Given the description of an element on the screen output the (x, y) to click on. 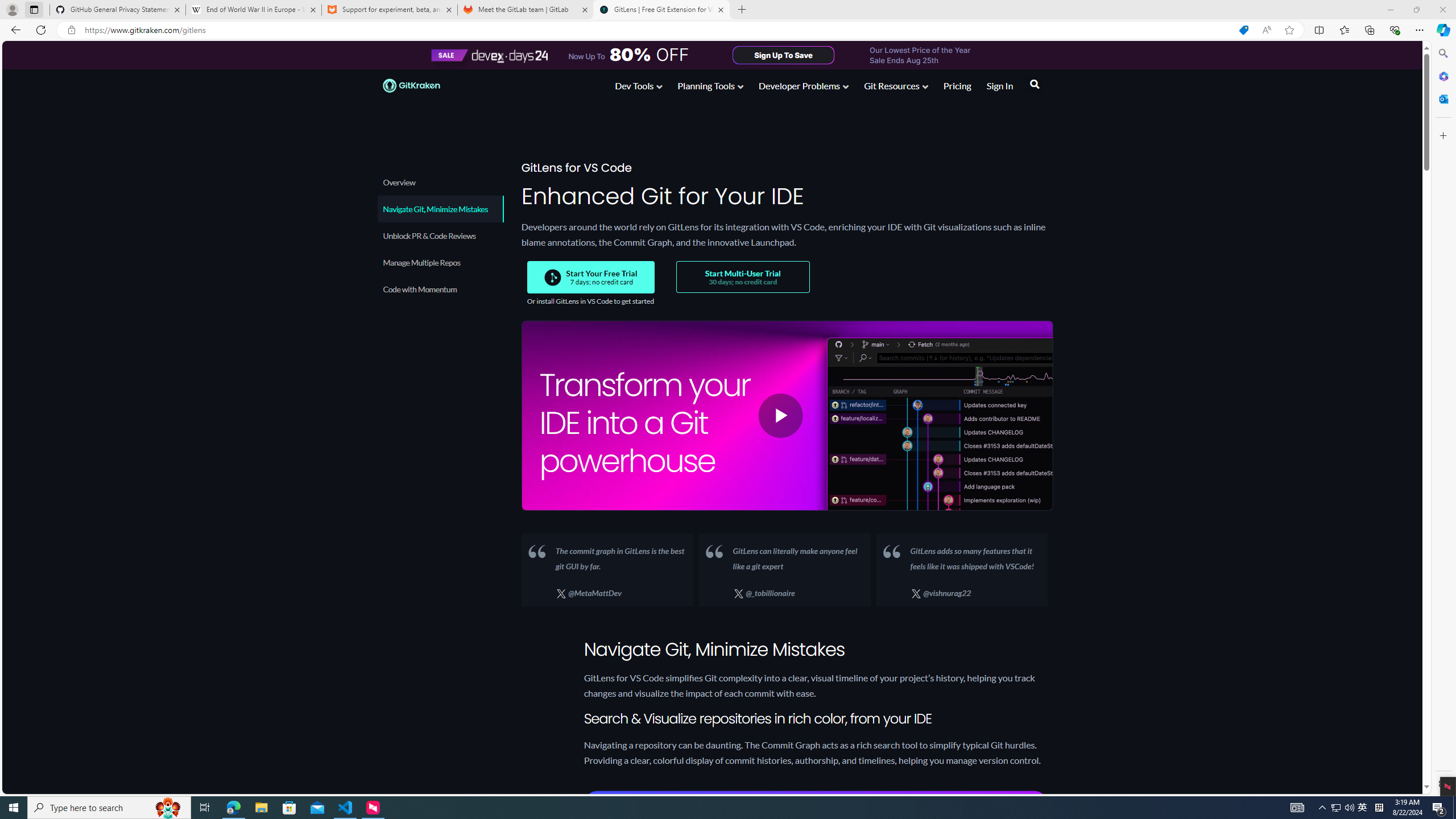
Sign In (999, 85)
GitHub General Privacy Statement - GitHub Docs (117, 9)
Manage Multiple Repos (439, 262)
